Given the description of an element on the screen output the (x, y) to click on. 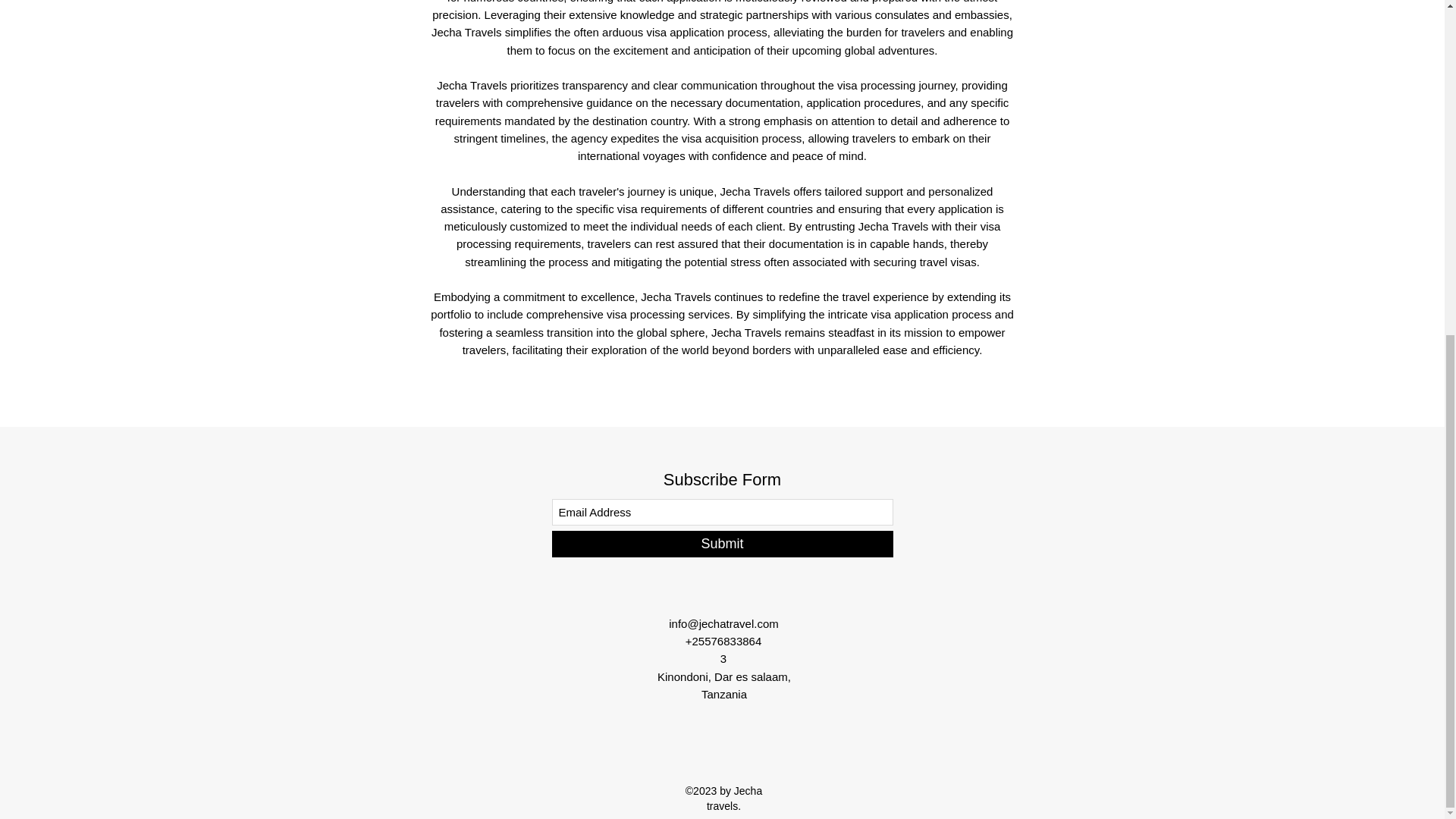
Submit (722, 543)
